Given the description of an element on the screen output the (x, y) to click on. 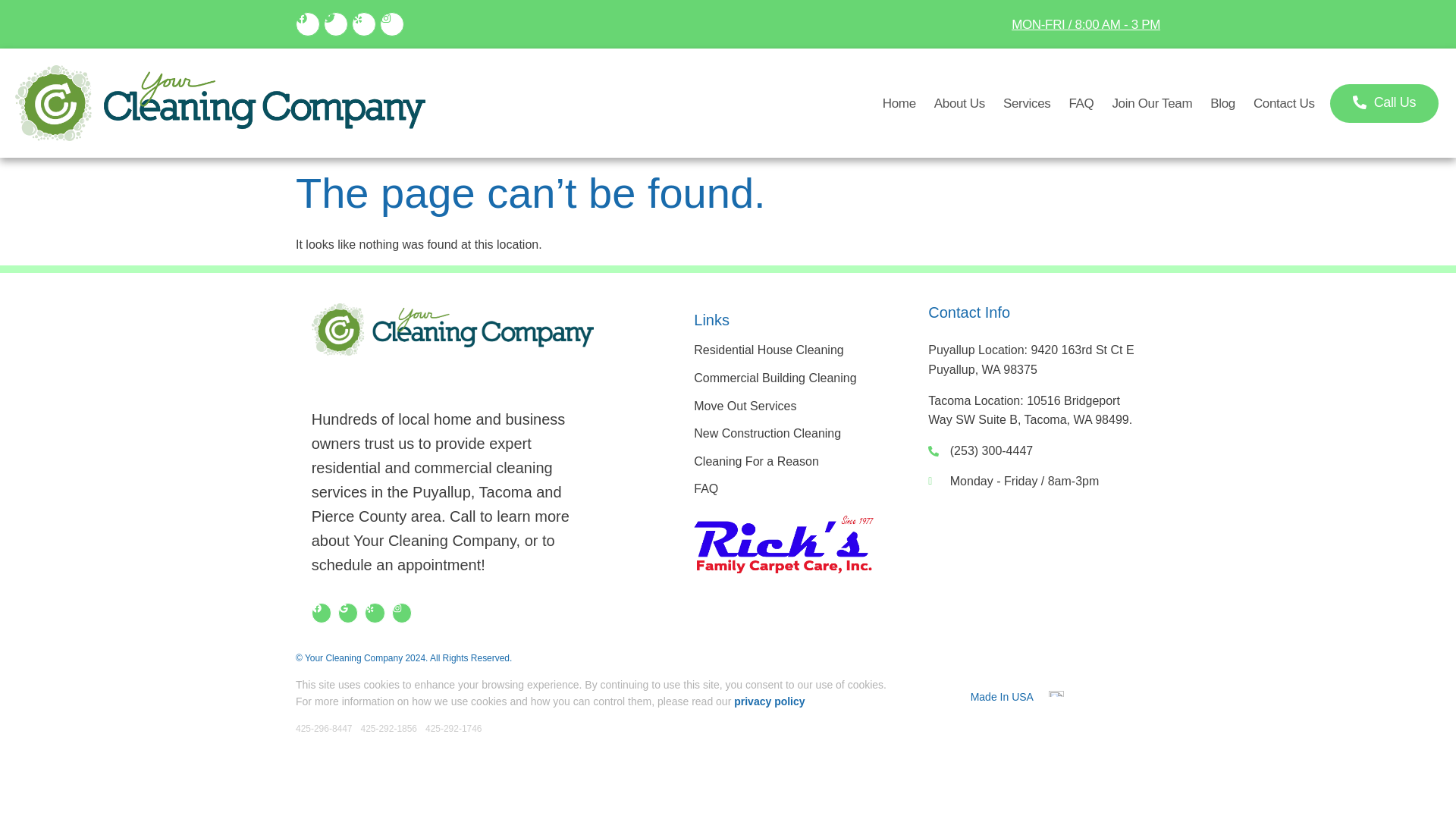
Blog (1221, 103)
Commercial Building Cleaning (784, 378)
Join Our Team (1152, 103)
Call Us (1384, 102)
Residential House Cleaning (784, 350)
Contact Us (1283, 103)
New Construction Cleaning (784, 433)
Services (1026, 103)
About Us (959, 103)
Home (898, 103)
